Given the description of an element on the screen output the (x, y) to click on. 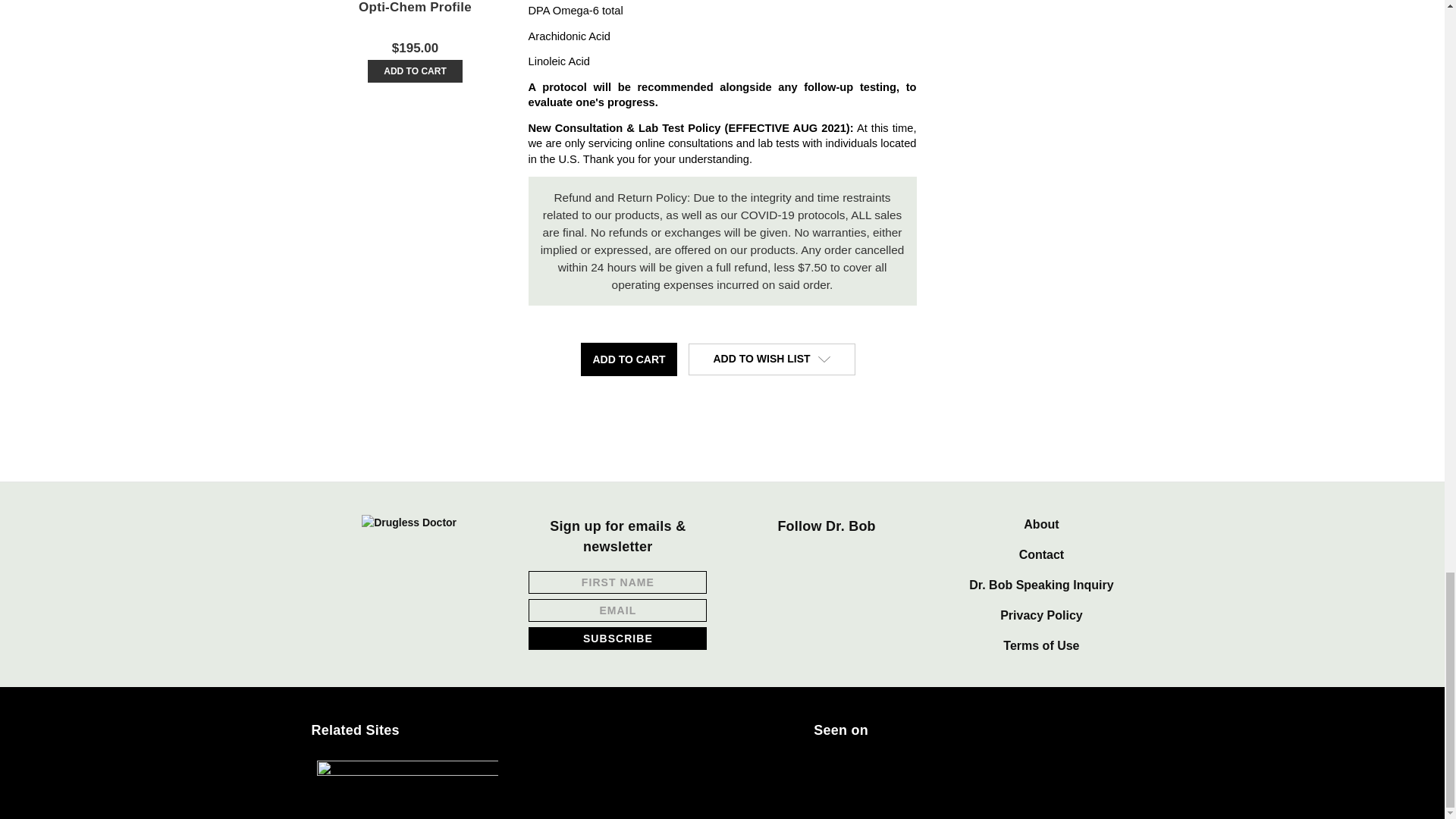
Subscribe (617, 637)
Add to Cart (628, 359)
Drugless Doctor (409, 522)
